Given the description of an element on the screen output the (x, y) to click on. 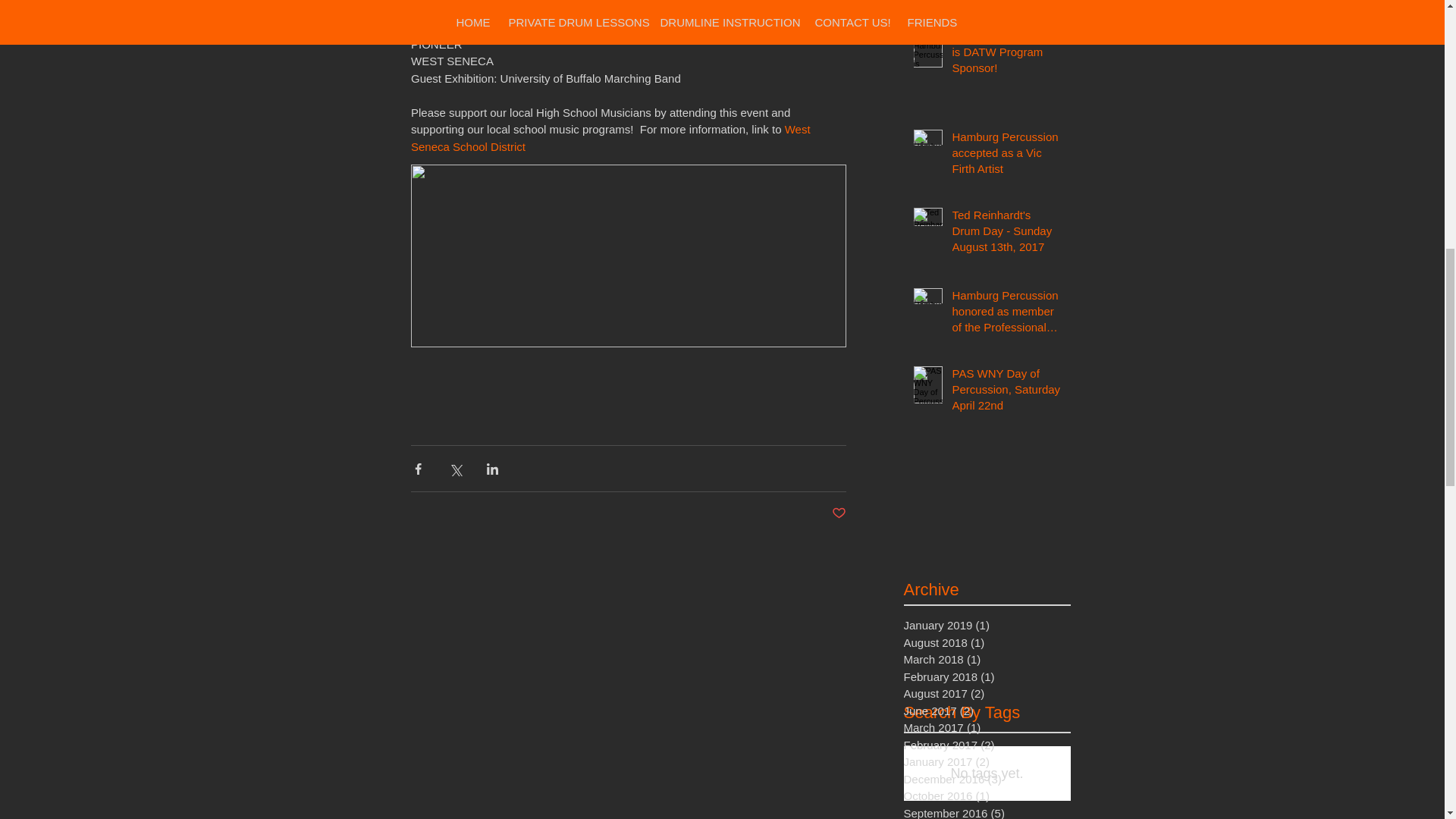
Ted Reinhardt's Drum Day - Sunday August 13th, 2017 (1006, 234)
Post not marked as liked (838, 513)
West Seneca School District (611, 137)
PAS WNY Day of Percussion, Saturday April 22nd (1006, 392)
Hamburg Percussion is DATW Program Sponsor! (1006, 54)
Hamburg Percussion accepted as a Vic Firth Artist (1006, 155)
